Given the description of an element on the screen output the (x, y) to click on. 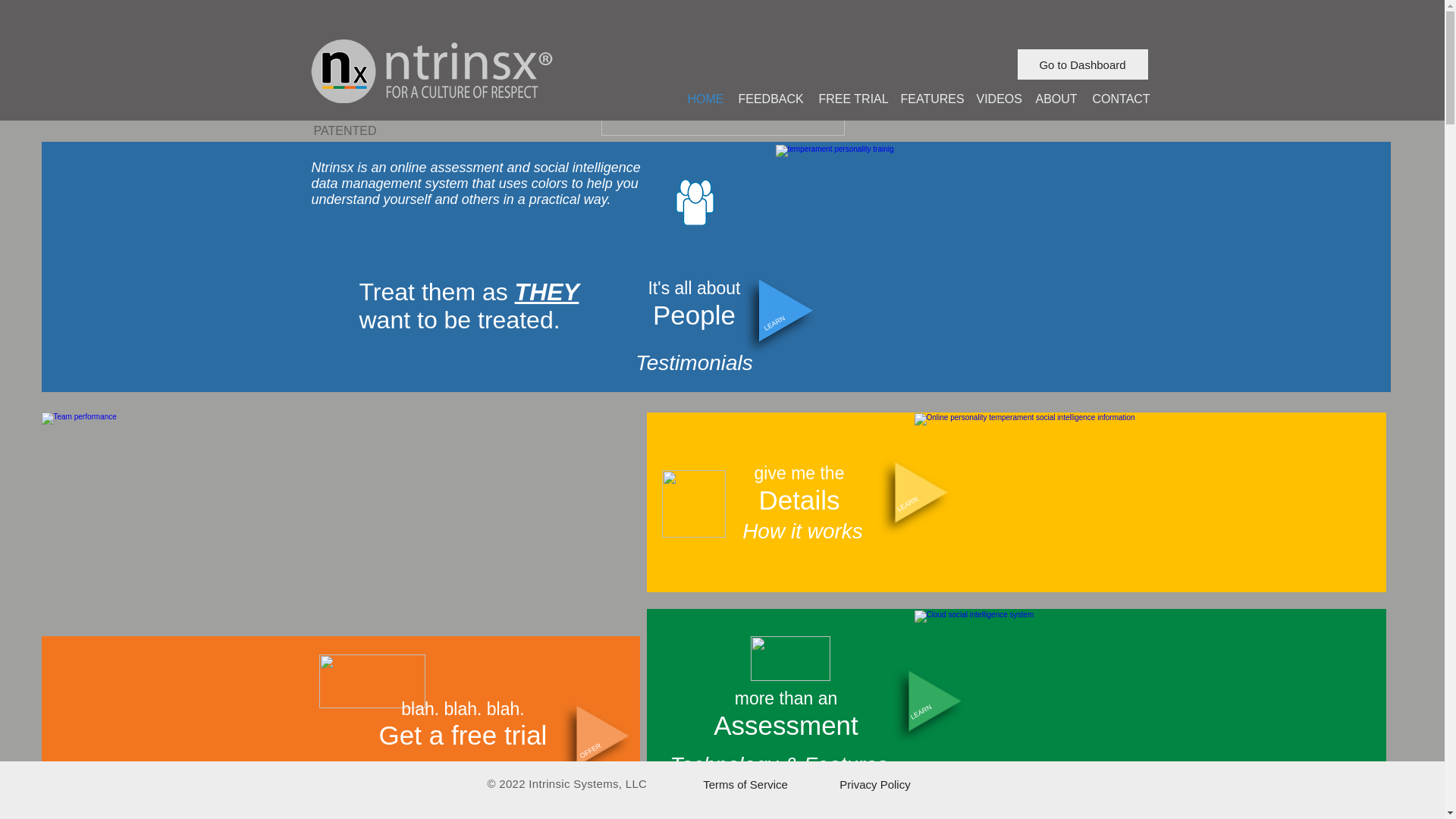
Online Social Intelligence Information (1045, 493)
FEATURES (931, 98)
Cloud-based Social Intelligence (1130, 705)
Go to Dashboard (1082, 64)
CONTACT (1120, 98)
Privacy Policy (875, 784)
HOME (704, 98)
Integrated Trainining (996, 233)
FREE TRIAL (851, 98)
Terms of Service (744, 784)
